Given the description of an element on the screen output the (x, y) to click on. 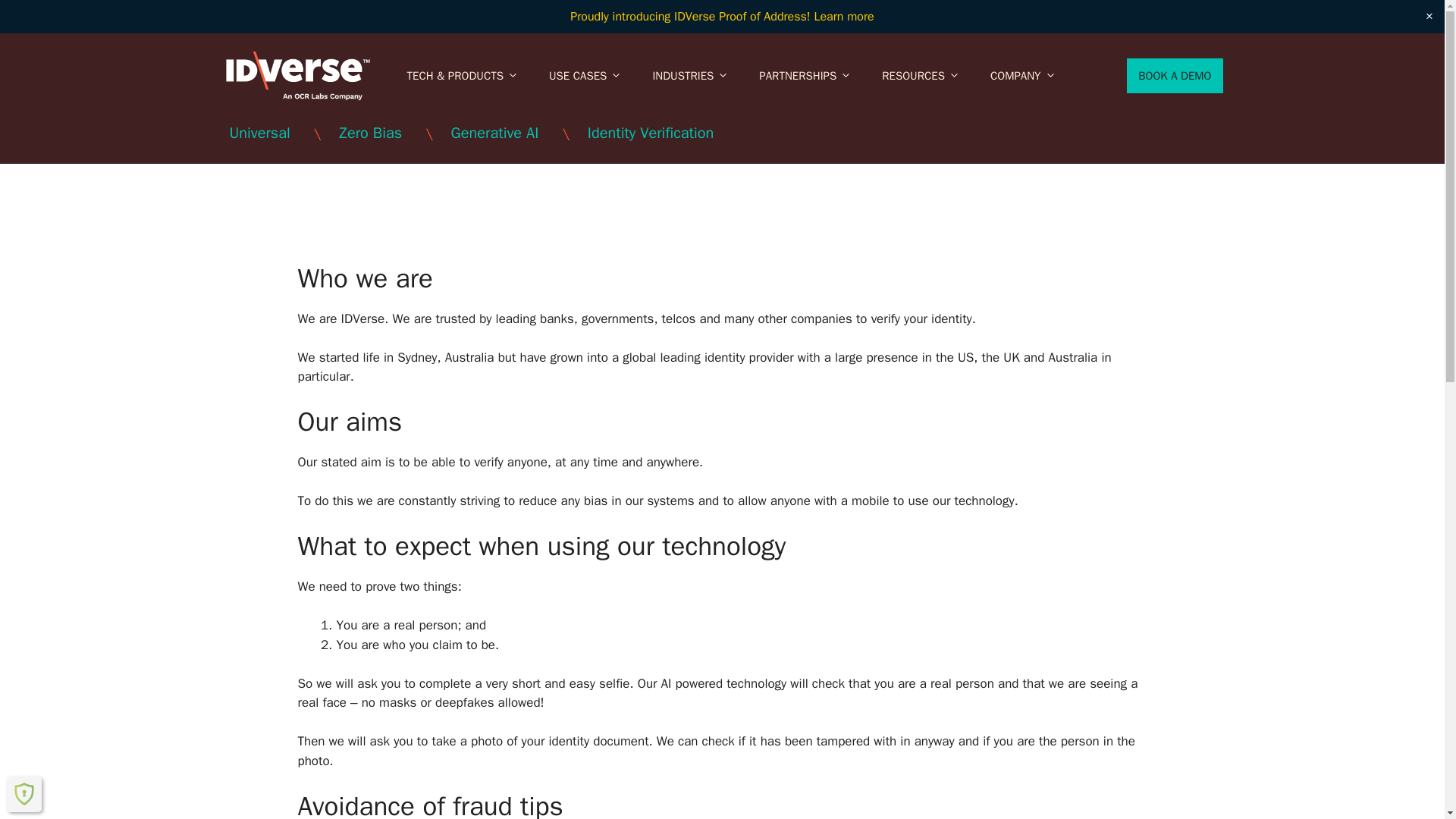
INDUSTRIES (690, 75)
RESOURCES (920, 75)
Learn more (843, 16)
Shield Security (23, 793)
USE CASES (585, 75)
PARTNERSHIPS (805, 75)
